Given the description of an element on the screen output the (x, y) to click on. 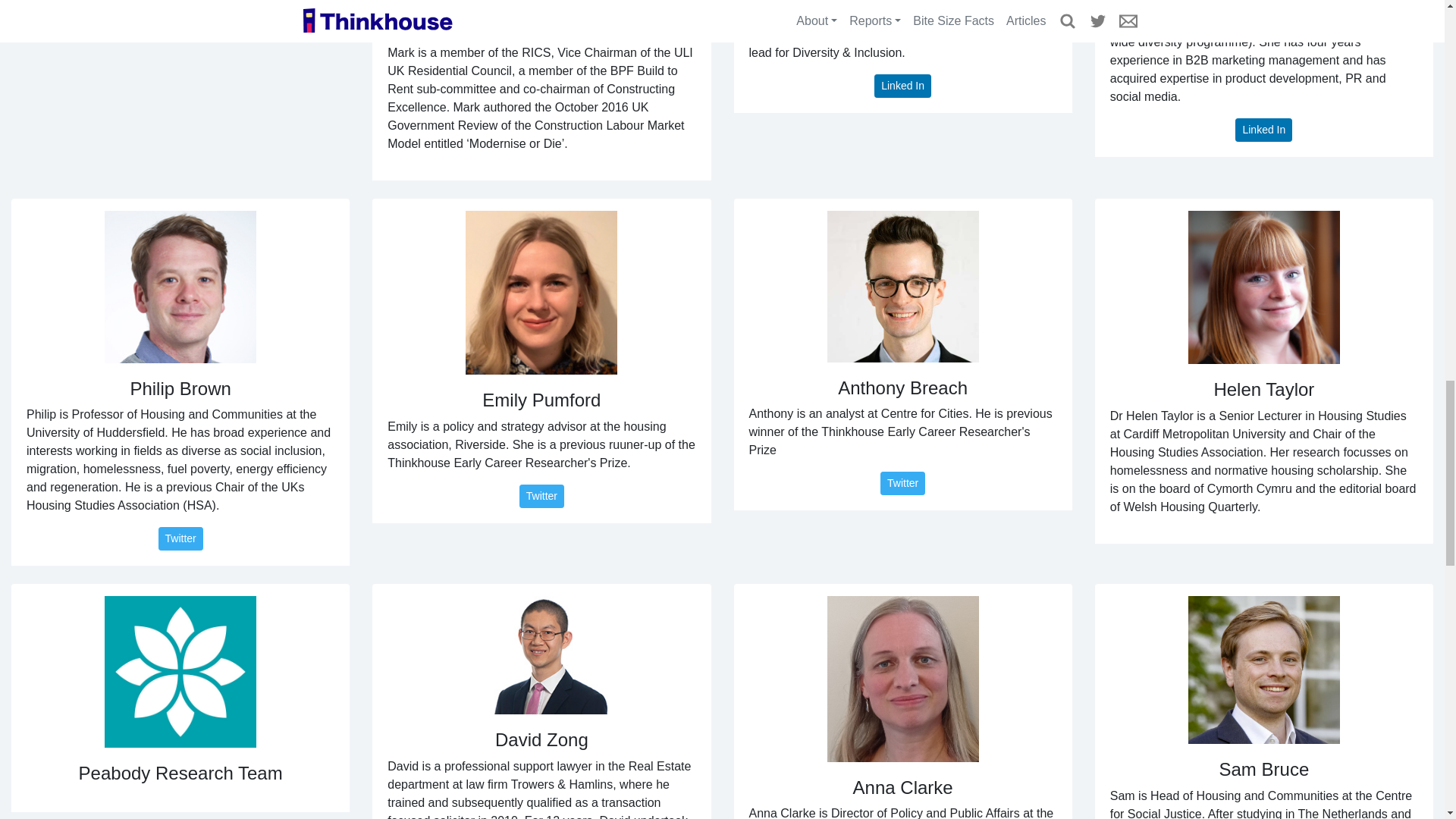
Twitter (541, 495)
Linked In (903, 85)
Linked In (1263, 129)
Twitter (902, 483)
Twitter (179, 538)
